Given the description of an element on the screen output the (x, y) to click on. 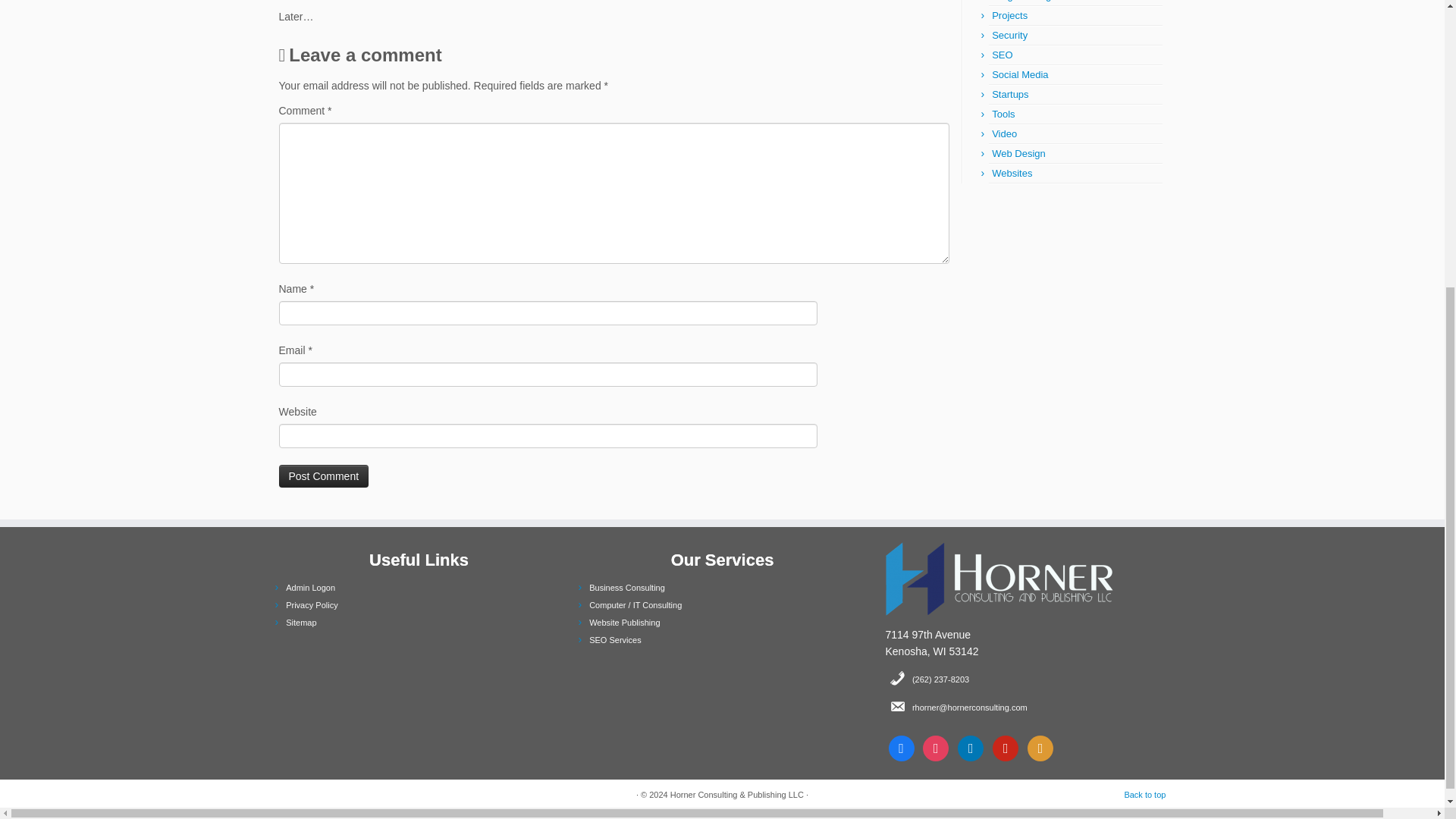
Post Comment (324, 476)
SEO (1001, 54)
Tools (1002, 113)
Instagram (971, 747)
Facebook (901, 747)
Projects (1009, 15)
Post Comment (324, 476)
Programming (1021, 0)
Video (1003, 133)
Web Design (1018, 153)
